Given the description of an element on the screen output the (x, y) to click on. 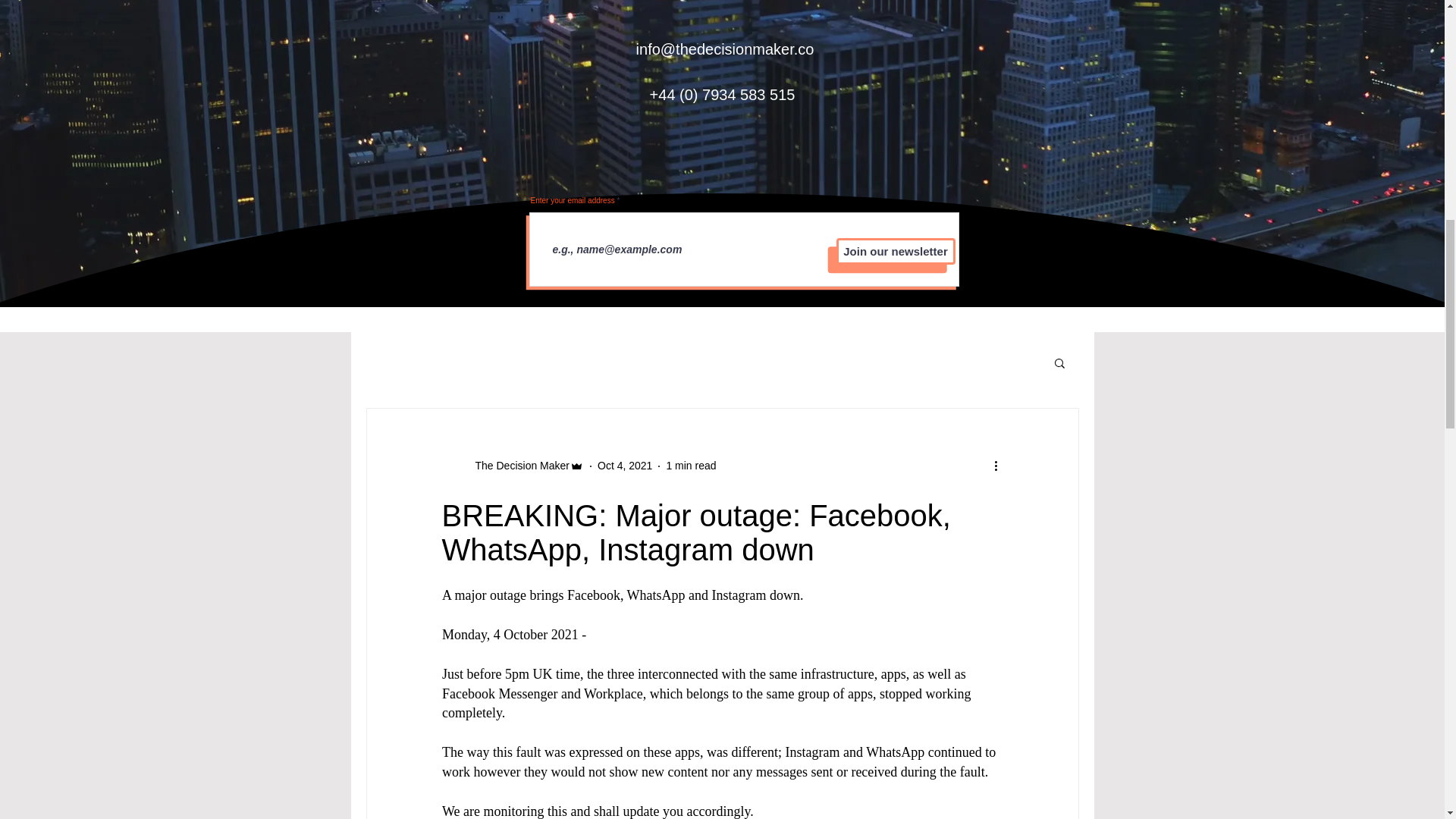
The Decision Maker (512, 466)
The Decision Maker (517, 465)
Join our newsletter (895, 251)
1 min read (690, 465)
Oct 4, 2021 (624, 465)
